Given the description of an element on the screen output the (x, y) to click on. 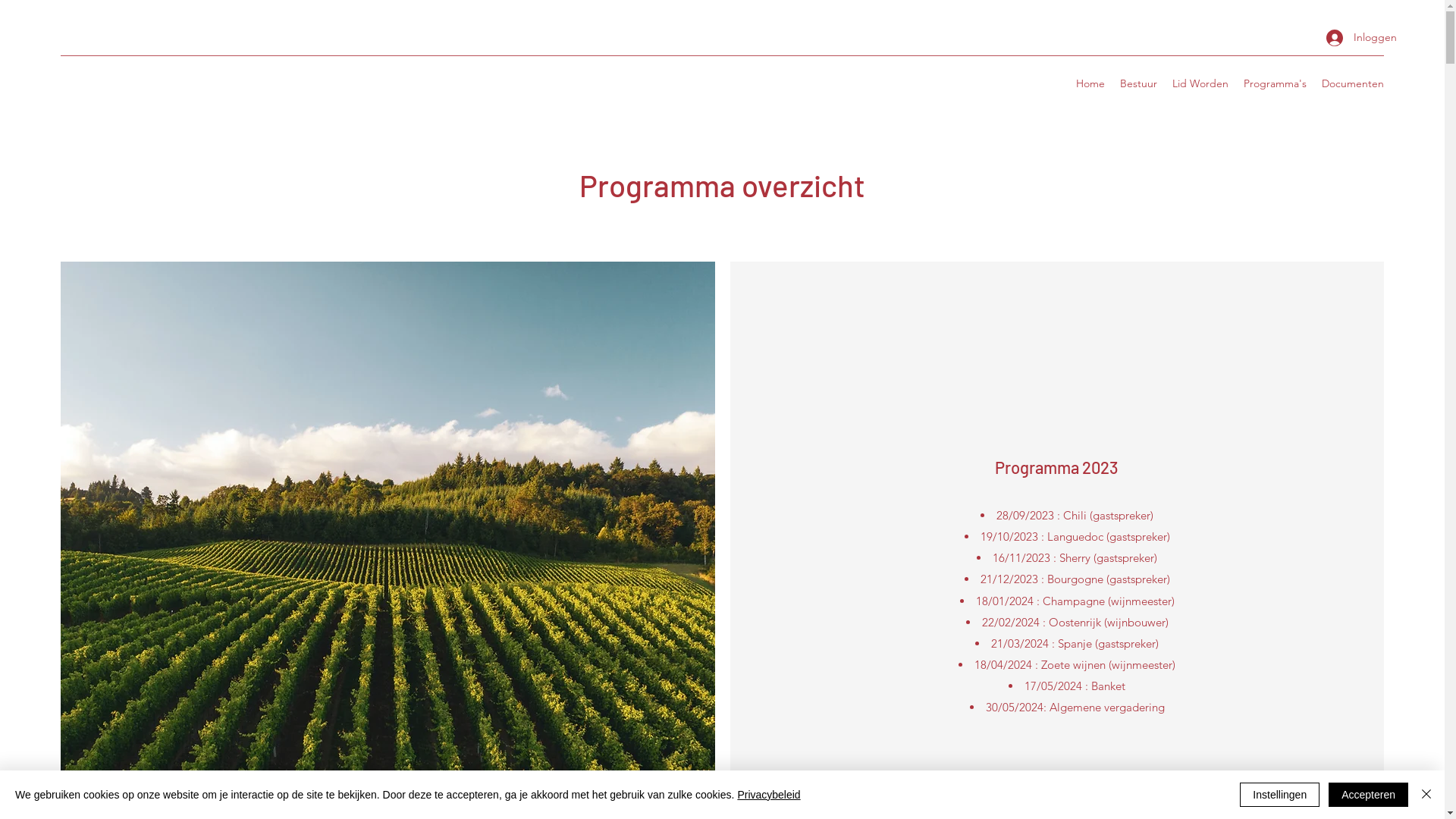
Privacybeleid Element type: text (768, 794)
Lid Worden Element type: text (1200, 83)
Accepteren Element type: text (1368, 794)
Bestuur Element type: text (1138, 83)
Instellingen Element type: text (1279, 794)
Inloggen Element type: text (1349, 37)
Programma's Element type: text (1275, 83)
Home Element type: text (1090, 83)
